Given the description of an element on the screen output the (x, y) to click on. 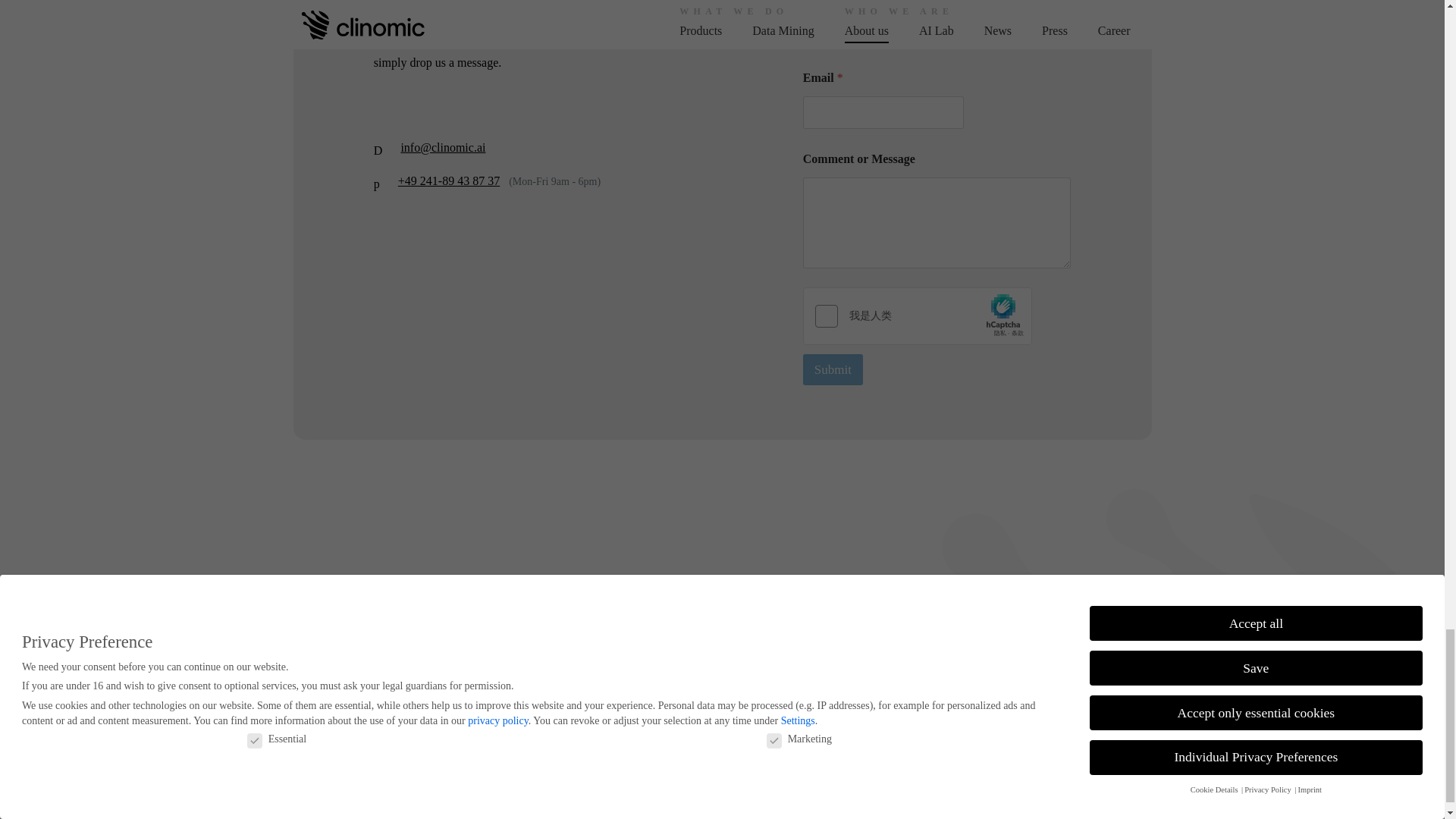
Clinomic (389, 606)
Submit (833, 368)
Impressum (1032, 682)
Datenschutz (1111, 682)
